Given the description of an element on the screen output the (x, y) to click on. 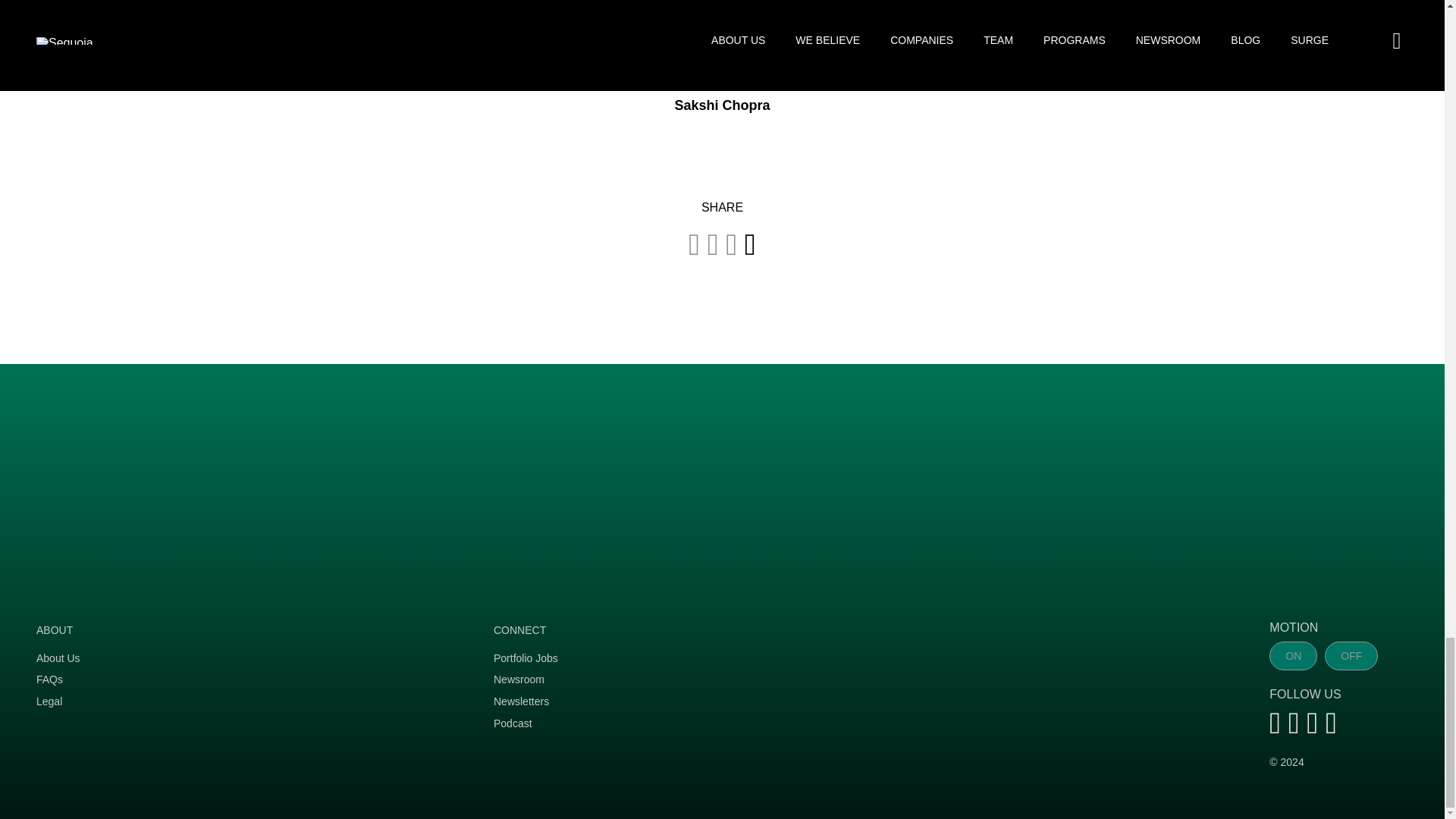
About Us (249, 659)
Legal (249, 701)
FAQs (249, 679)
Newsletters (706, 701)
Portfolio Jobs (706, 659)
Podcast (706, 723)
Newsroom (706, 679)
